Given the description of an element on the screen output the (x, y) to click on. 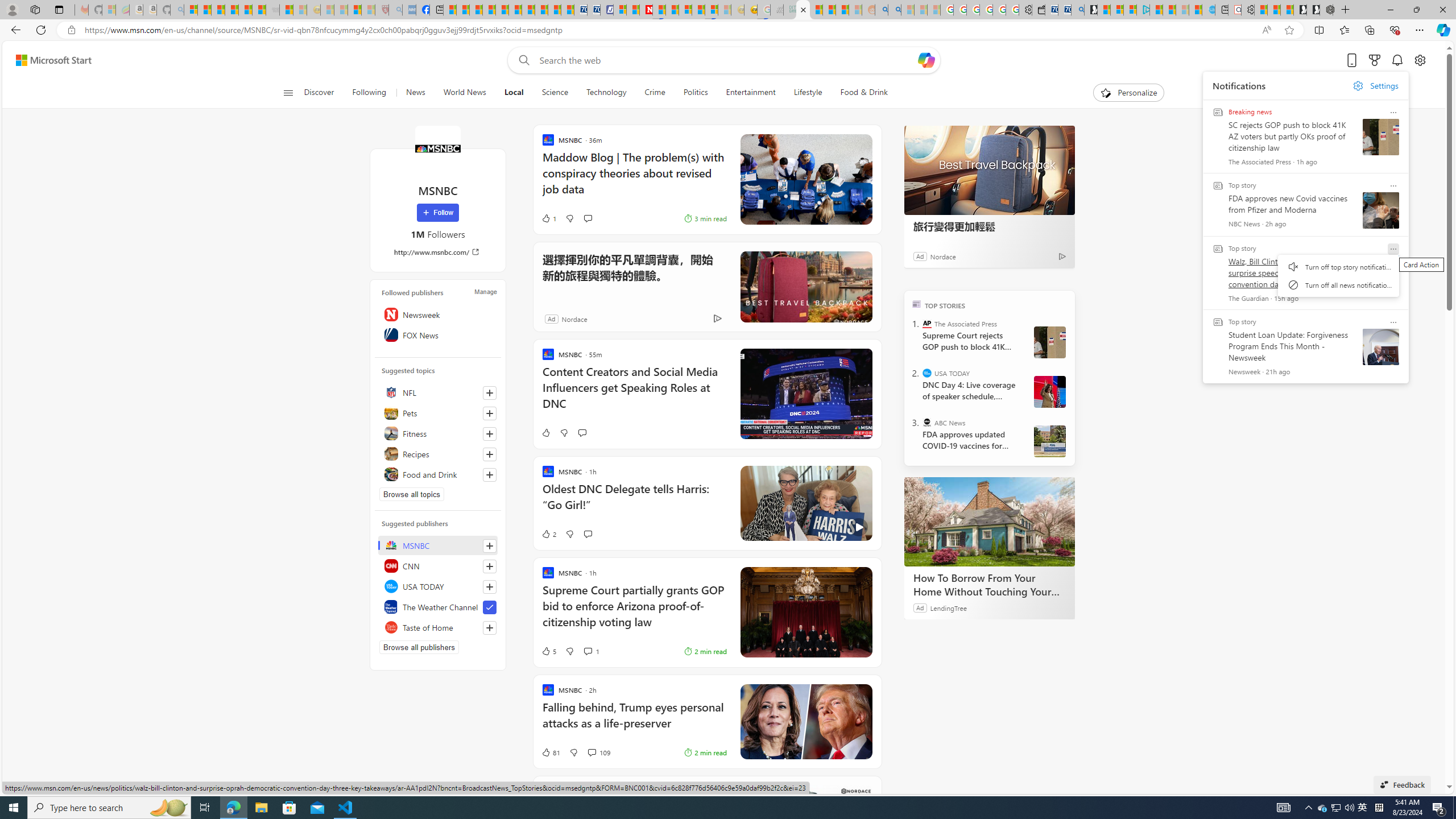
Turn off top story notifications (1338, 266)
View comments 109 Comment (598, 752)
Unfollow this source (489, 607)
Follow (437, 212)
